Given the description of an element on the screen output the (x, y) to click on. 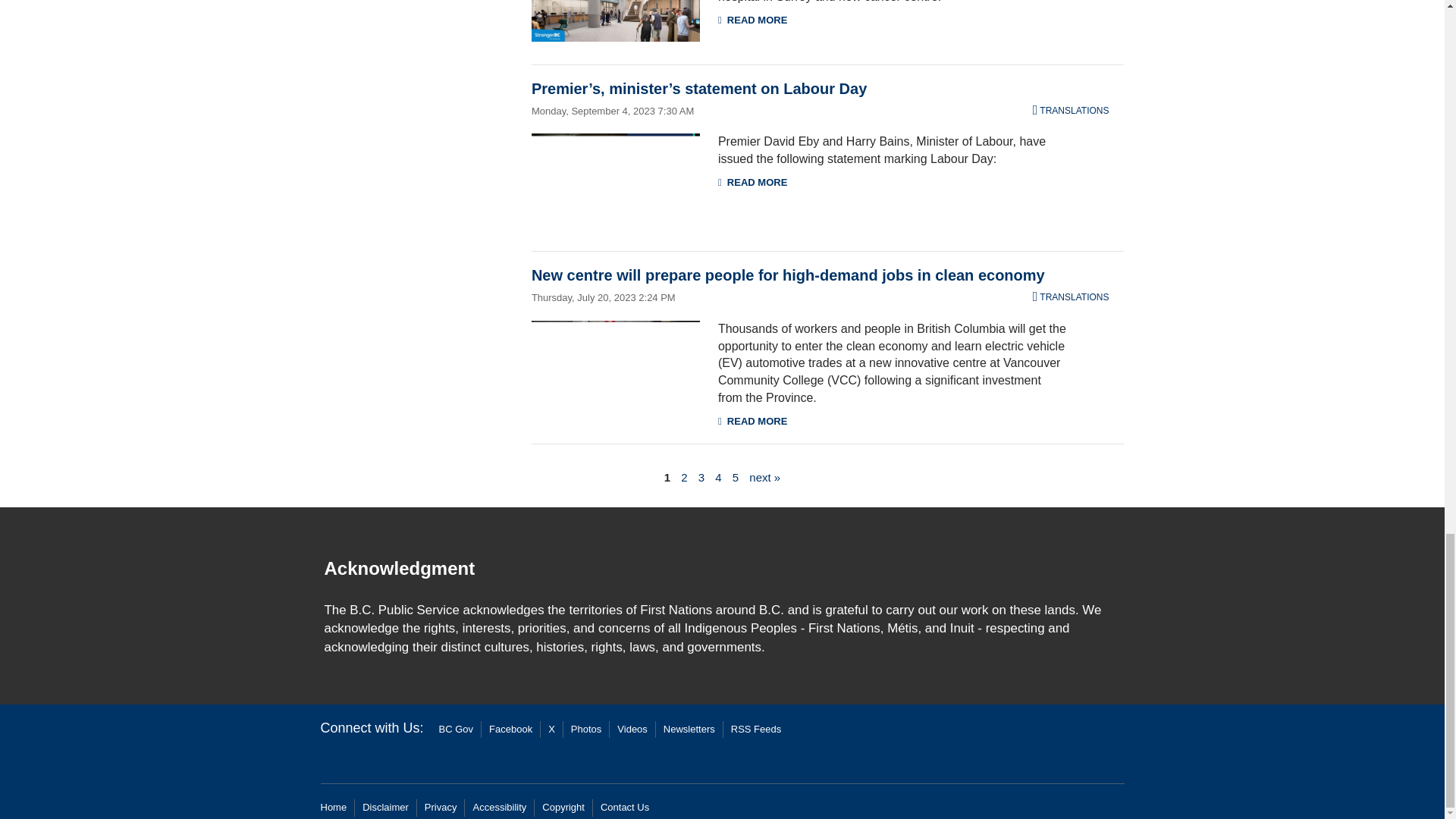
Second hospital, new cancer centre breaks ground in Surrey (615, 20)
Happy Labour Day! (615, 180)
